Given the description of an element on the screen output the (x, y) to click on. 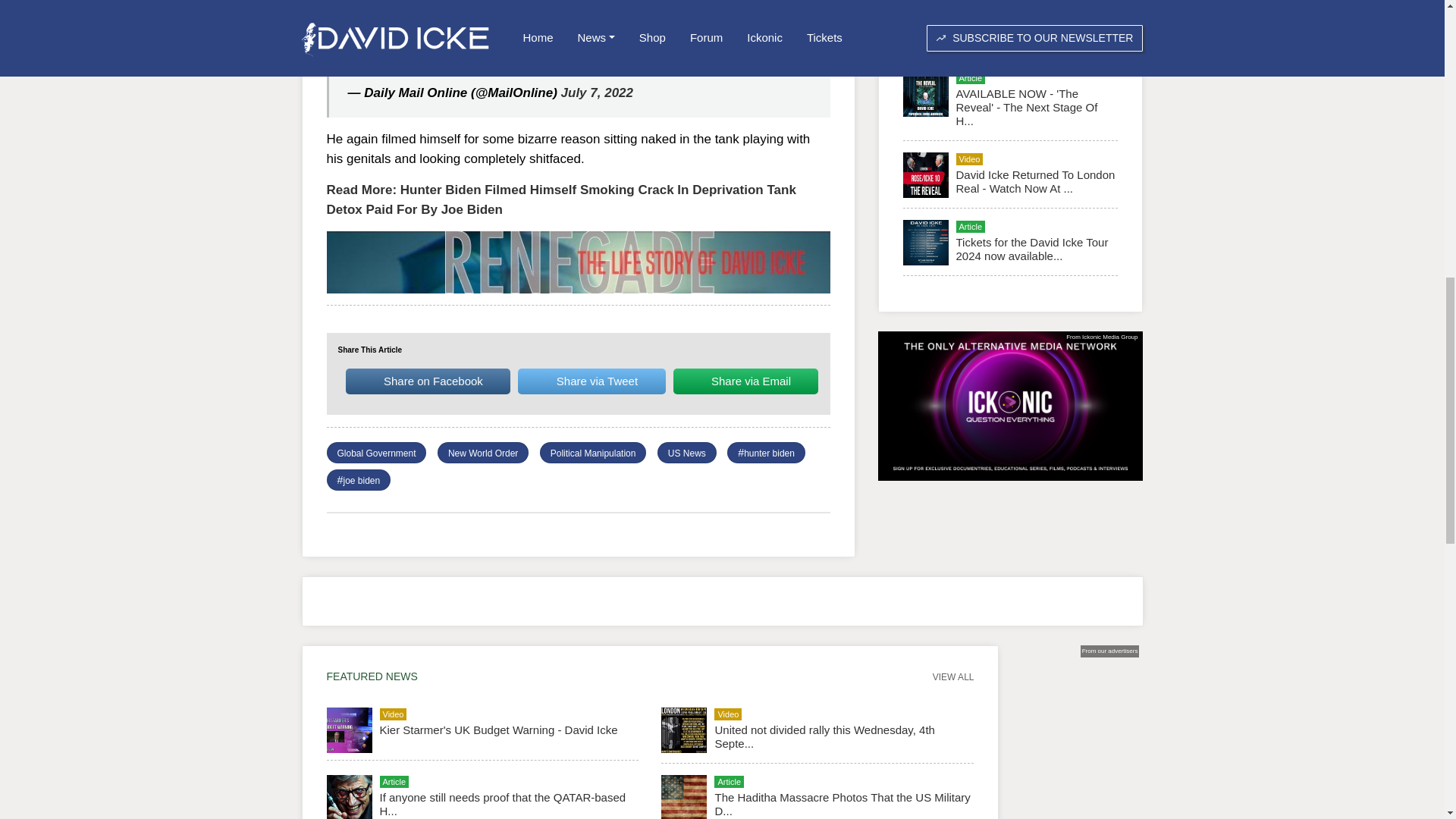
Kier Starmer's UK Budget Warning - David Icke (1019, 32)
July 7, 2022 (596, 92)
Share via Email (745, 380)
Share via Tweet (591, 380)
Kier Starmer's UK Budget Warning - David Icke (497, 729)
US News (687, 452)
